Given the description of an element on the screen output the (x, y) to click on. 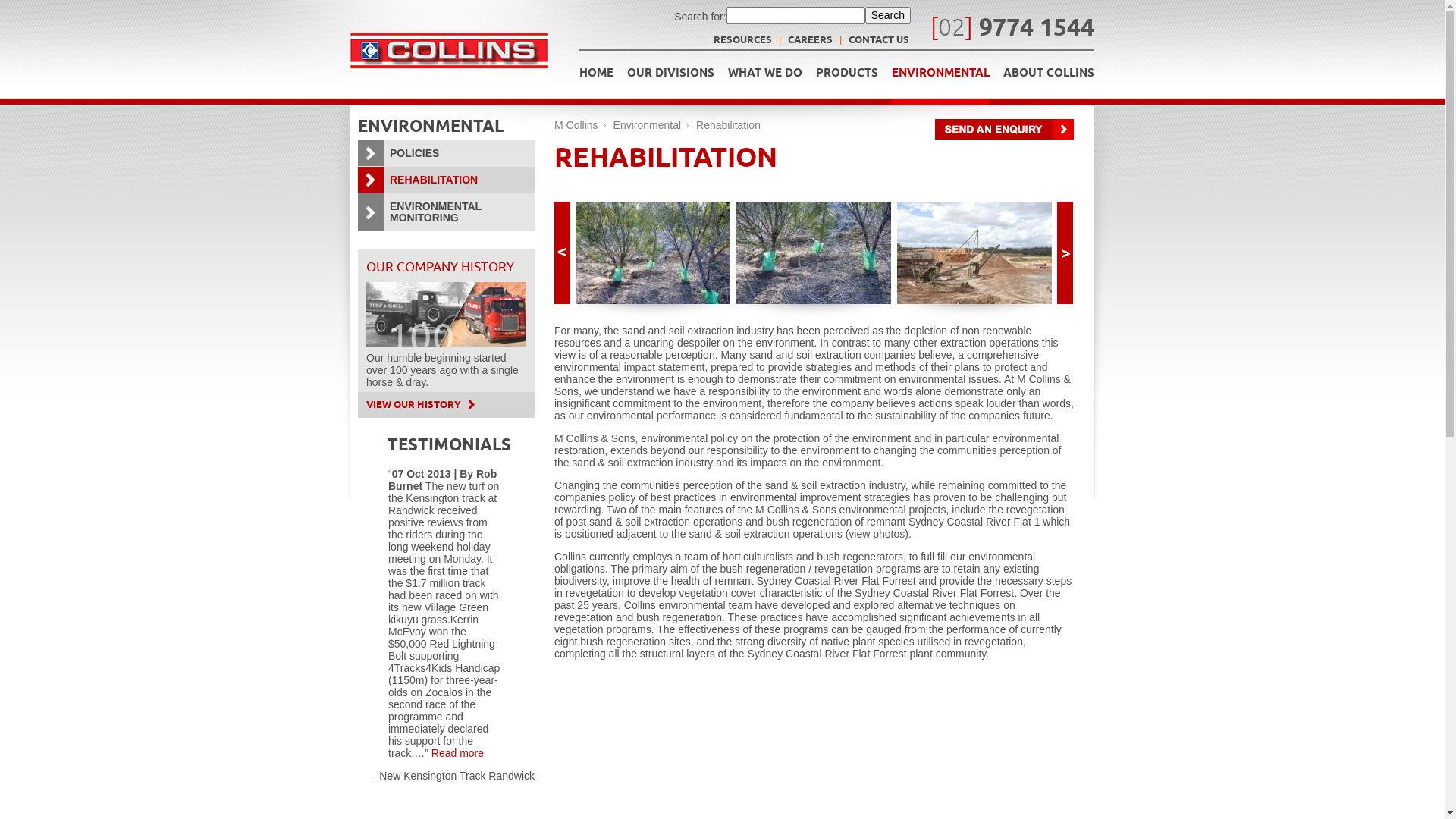
POLICIES Element type: text (445, 153)
M Collins Element type: text (576, 125)
ABOUT COLLINS Element type: text (1048, 77)
WHAT WE DO Element type: text (765, 77)
OUR DIVISIONS Element type: text (670, 77)
Read more Element type: text (457, 752)
next Element type: text (1065, 252)
Environmental Element type: text (647, 125)
Search Element type: text (887, 14)
HOME Element type: text (596, 77)
REHABILITATION Element type: text (445, 179)
ENVIRONMENTAL MONITORING Element type: text (445, 211)
previous Element type: text (562, 252)
CAREERS Element type: text (809, 40)
CONTACT US Element type: text (878, 40)
PRODUCTS Element type: text (846, 77)
RESOURCES Element type: text (742, 40)
ENVIRONMENTAL Element type: text (940, 80)
